Given the description of an element on the screen output the (x, y) to click on. 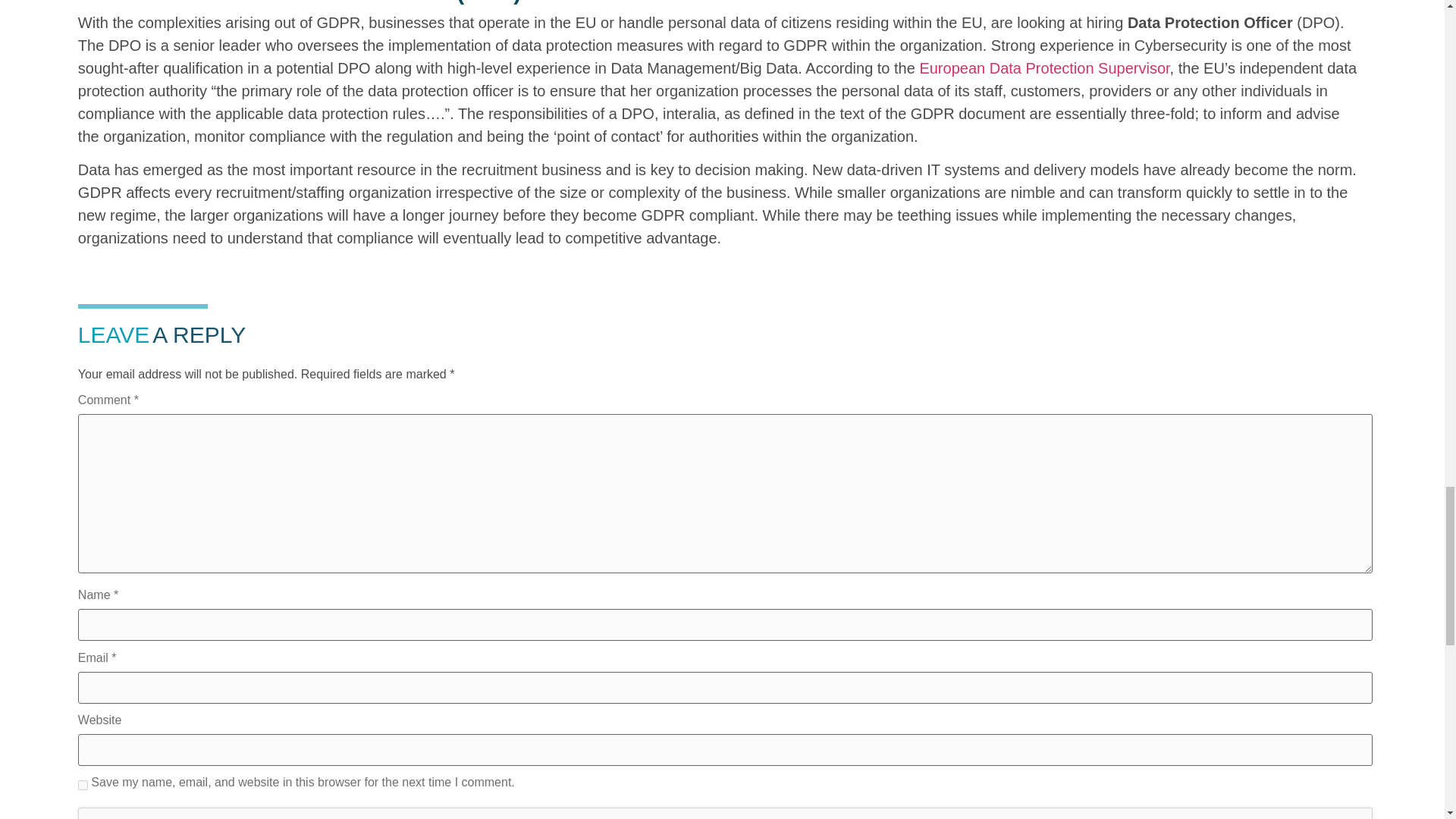
yes (82, 785)
